Given the description of an element on the screen output the (x, y) to click on. 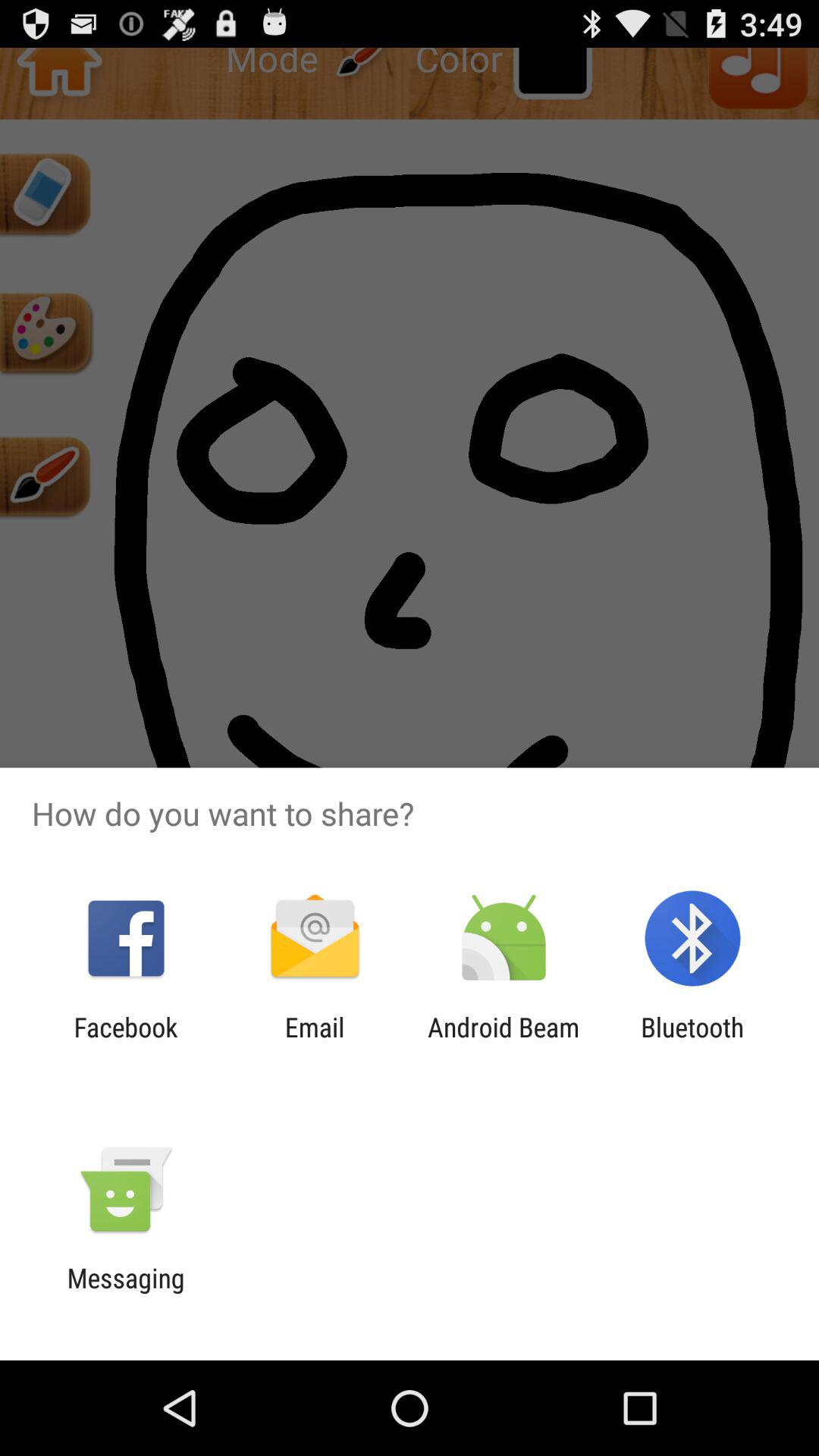
select item to the left of the android beam item (314, 1042)
